Given the description of an element on the screen output the (x, y) to click on. 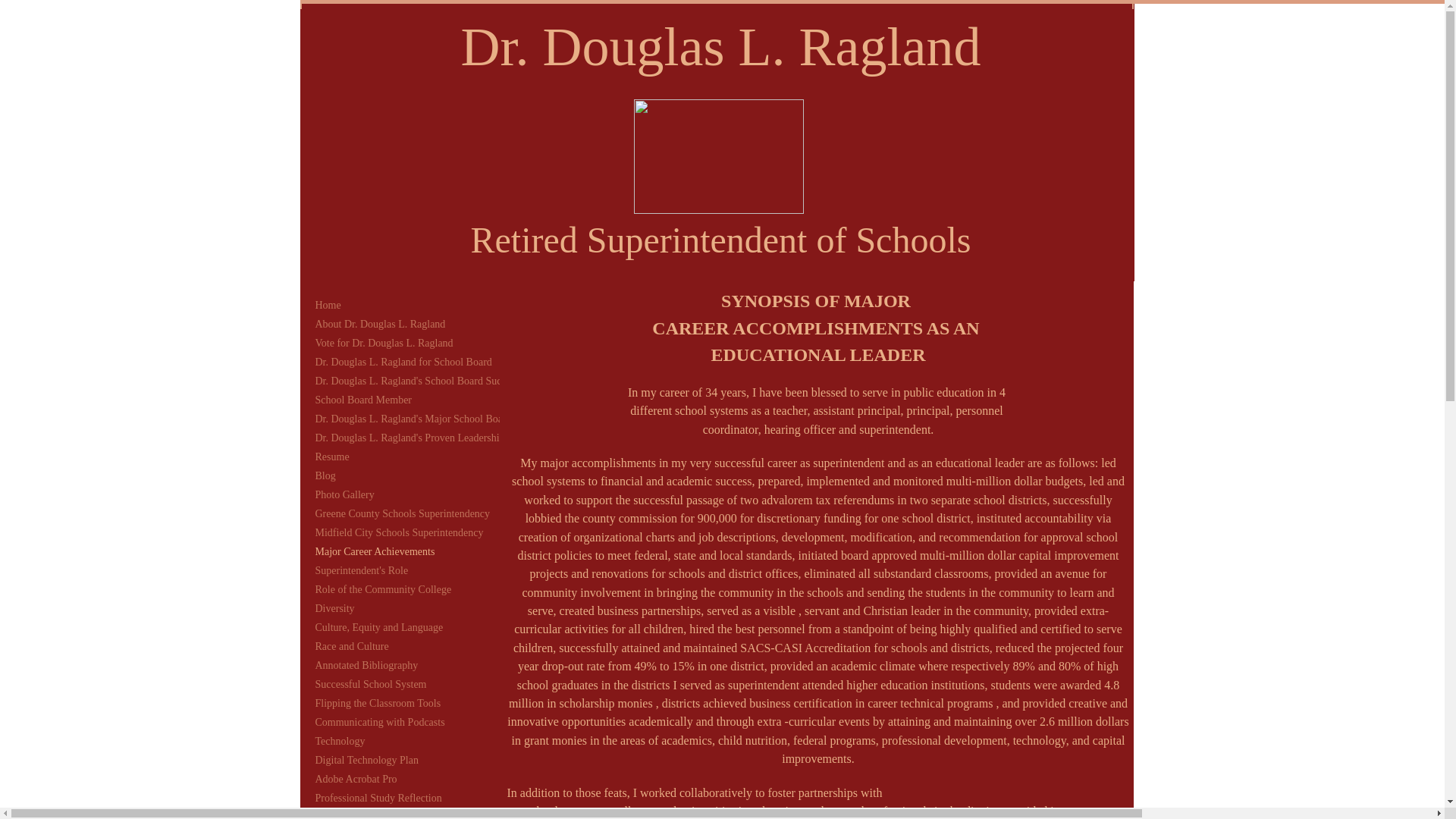
Flipping the Classroom Tools (377, 703)
Greene County Schools Superintendency (402, 514)
About Dr. Douglas L. Ragland (379, 324)
Digital Technology Plan (366, 760)
Blog (325, 475)
Major Career Achievements (374, 551)
Midfield City Schools Superintendency (399, 532)
Communicating with Podcasts (379, 722)
Diversity (334, 608)
Annotated Bibliography (366, 665)
Resume (331, 457)
Dr. Douglas L. Ragland's School Board Success (417, 381)
Vote for Dr. Douglas L. Ragland (384, 343)
Culture, Equity and Language (379, 627)
Technology (339, 741)
